Given the description of an element on the screen output the (x, y) to click on. 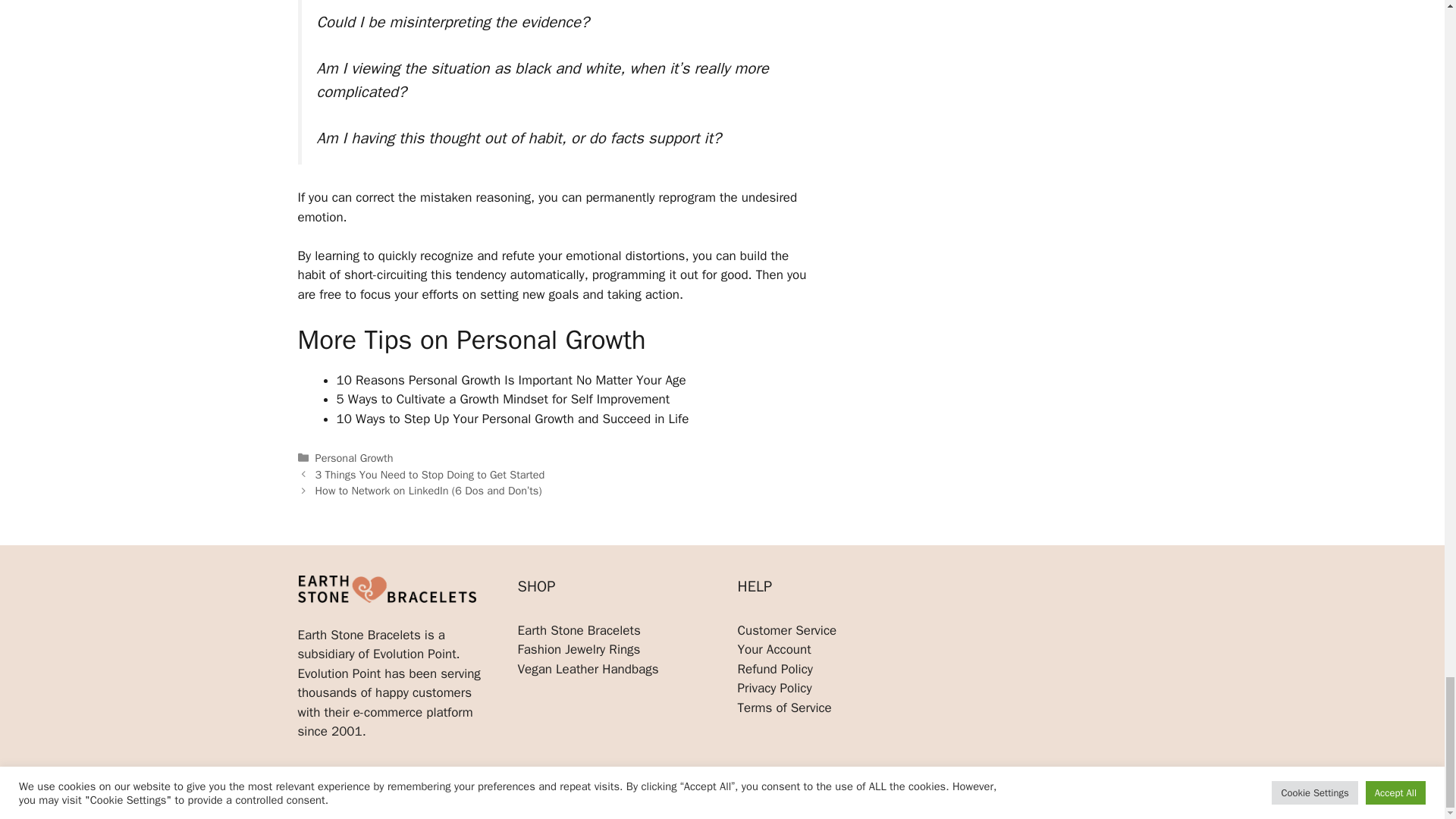
Vegan Leather Handbags (587, 668)
3 Things You Need to Stop Doing to Get Started (429, 474)
Your Account (773, 649)
Privacy Policy (773, 688)
Refund Policy (774, 668)
Earth Stone Bracelets (578, 630)
Personal Growth (354, 458)
Customer Service (785, 630)
Fashion Jewelry Rings (578, 649)
